Given the description of an element on the screen output the (x, y) to click on. 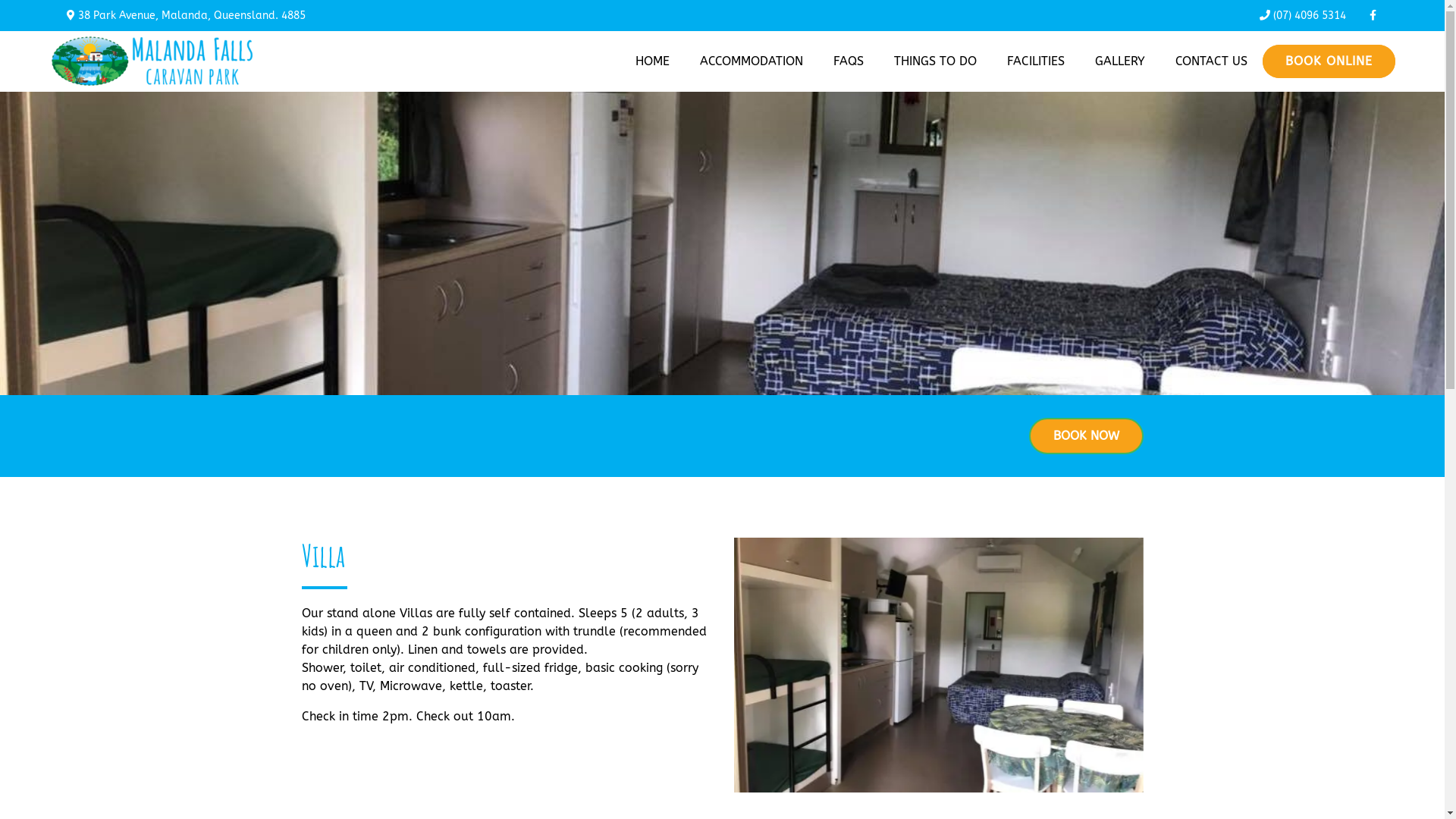
CONTACT US Element type: text (1211, 61)
FAQS Element type: text (848, 61)
BOOK NOW Element type: text (1085, 435)
(07) 4096 5314 Element type: text (1302, 15)
GALLERY Element type: text (1119, 61)
HOME Element type: text (652, 61)
THINGS TO DO Element type: text (934, 61)
FACILITIES Element type: text (1035, 61)
BOOK ONLINE Element type: text (1328, 61)
ACCOMMODATION Element type: text (751, 61)
